Given the description of an element on the screen output the (x, y) to click on. 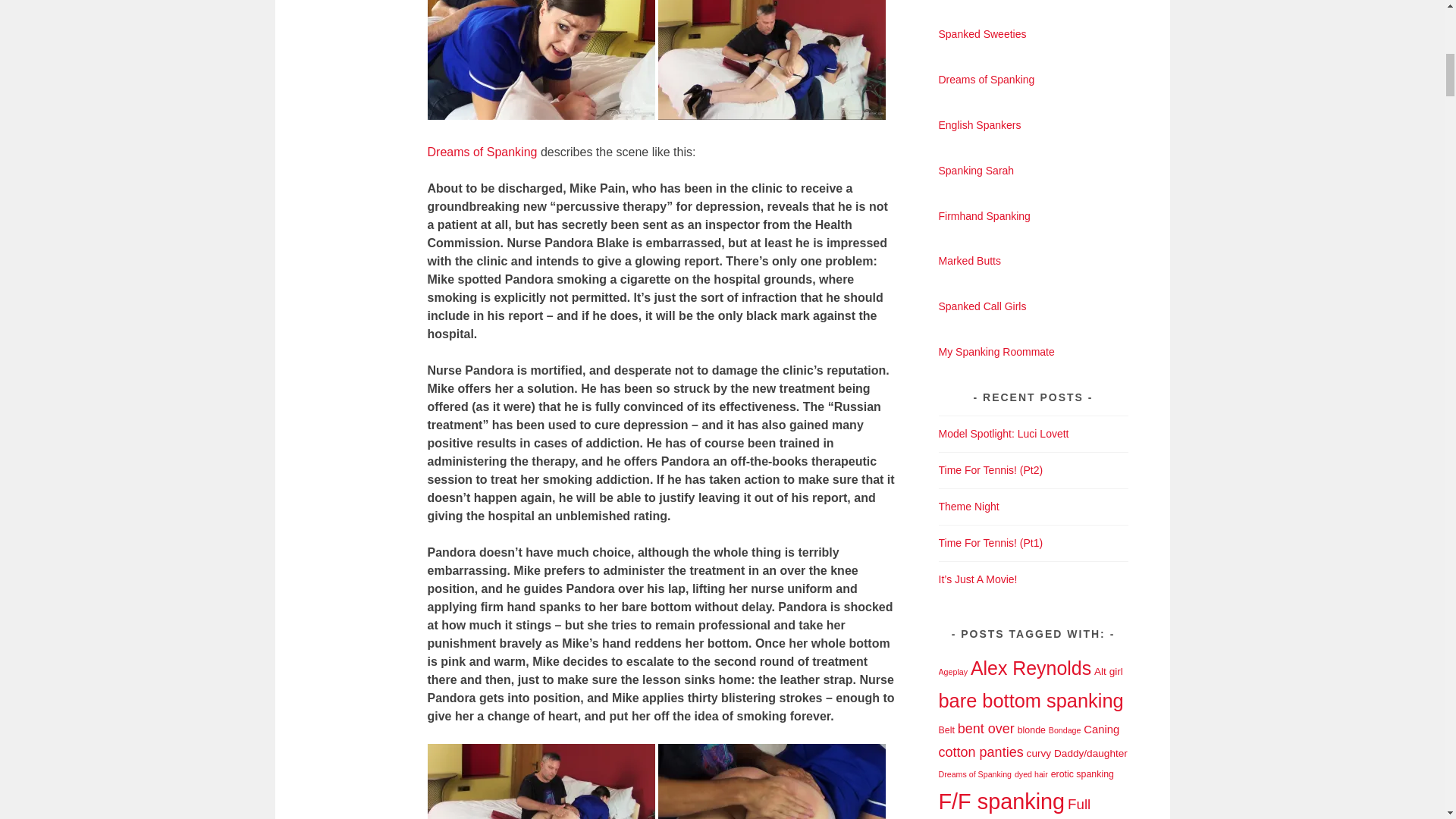
Dreams of Spanking (482, 151)
